Given the description of an element on the screen output the (x, y) to click on. 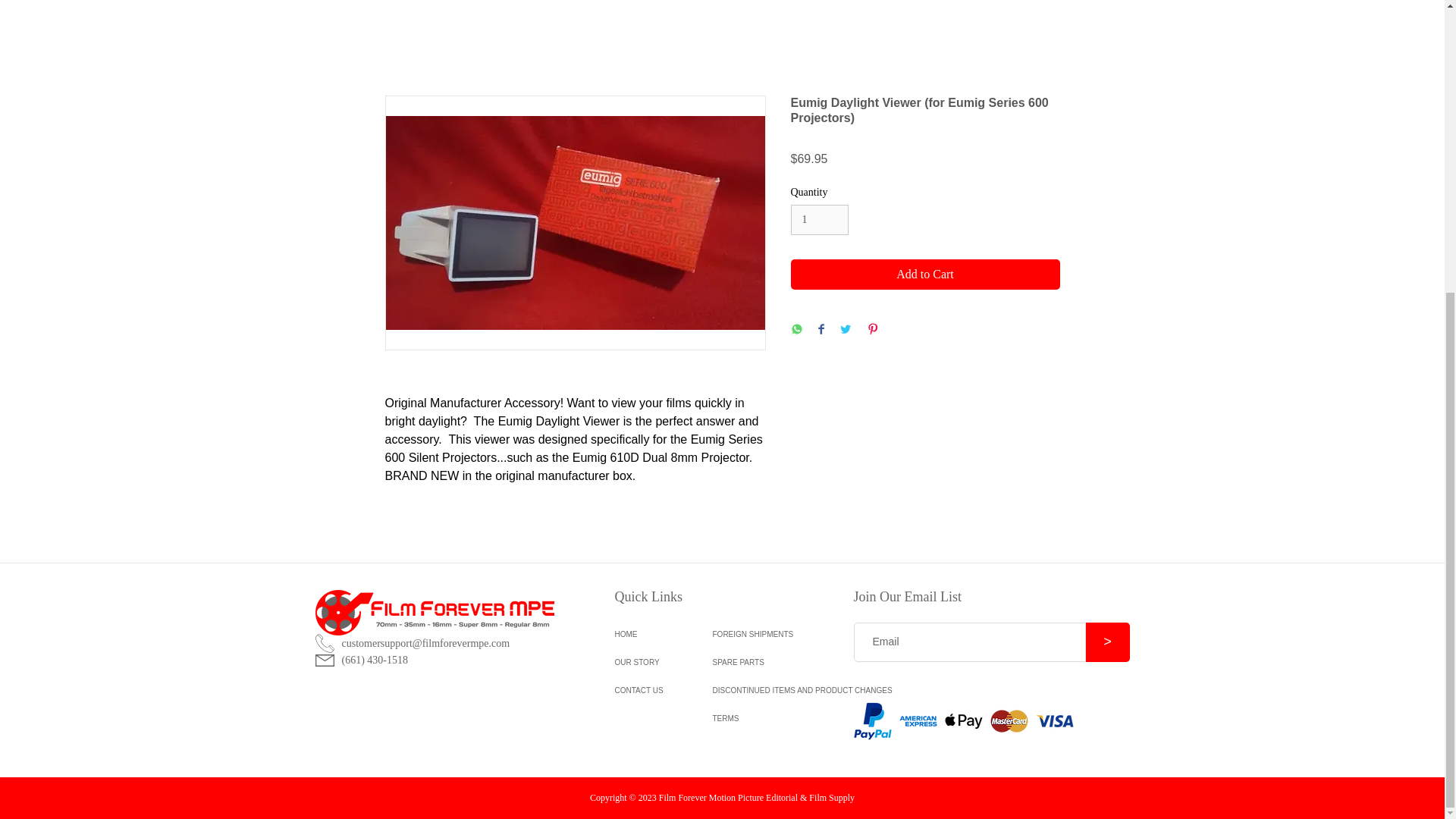
Add to Cart (924, 274)
DISCONTINUED ITEMS AND PRODUCT CHANGES (770, 690)
1 (818, 219)
SPARE PARTS (770, 662)
HOME (651, 633)
TERMS (770, 718)
CONTACT US (651, 690)
FOREIGN SHIPMENTS (770, 633)
OUR STORY (651, 662)
